Given the description of an element on the screen output the (x, y) to click on. 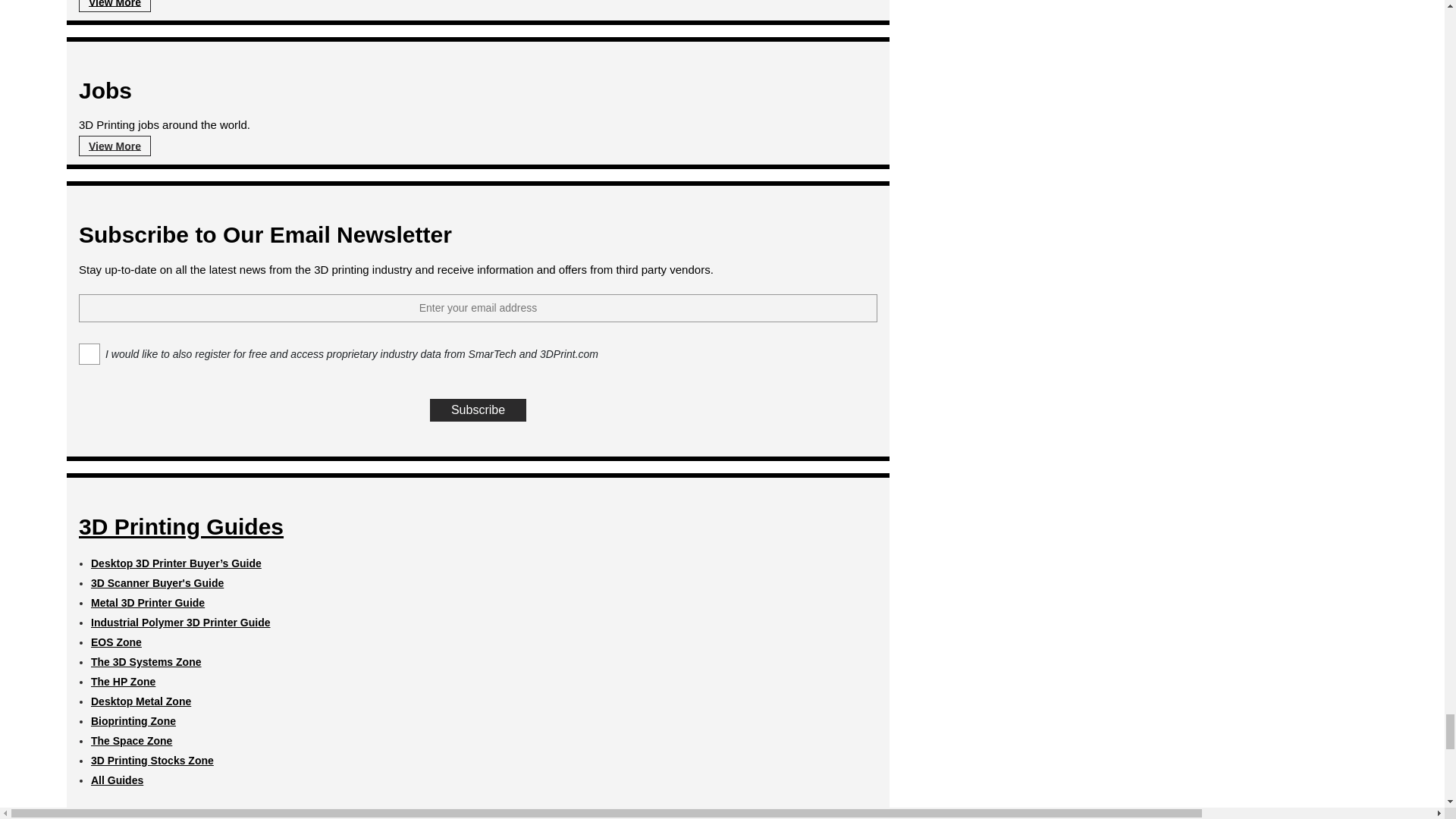
Subscribe (477, 409)
